Given the description of an element on the screen output the (x, y) to click on. 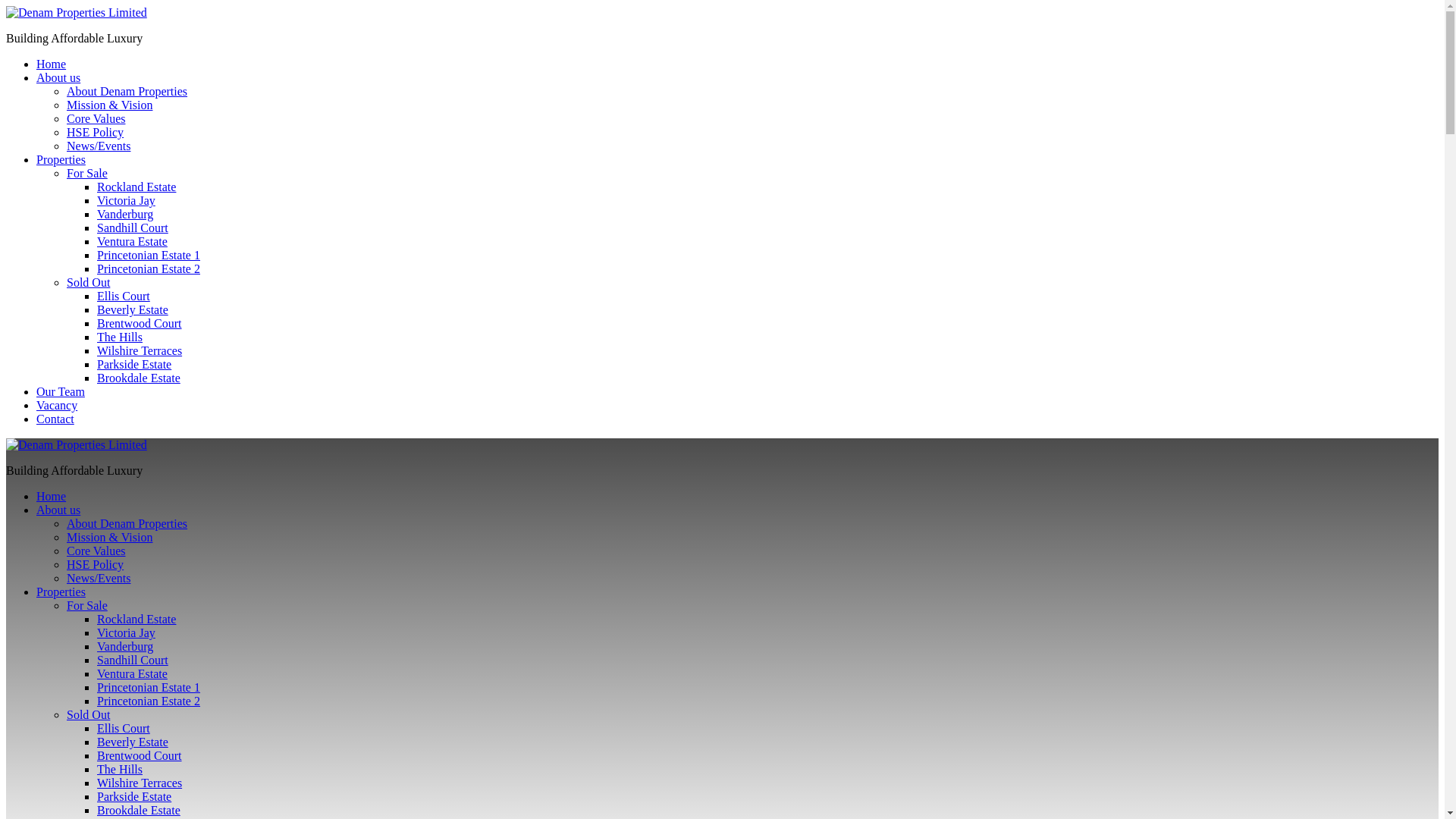
Ellis Court (123, 295)
About Denam Properties (126, 91)
Denam Properties Limited (76, 444)
Wilshire Terraces (139, 350)
HSE Policy (94, 563)
Sandhill Court (132, 227)
About us (58, 77)
For Sale (86, 173)
Beverly Estate (132, 309)
About Denam Properties (126, 522)
